Given the description of an element on the screen output the (x, y) to click on. 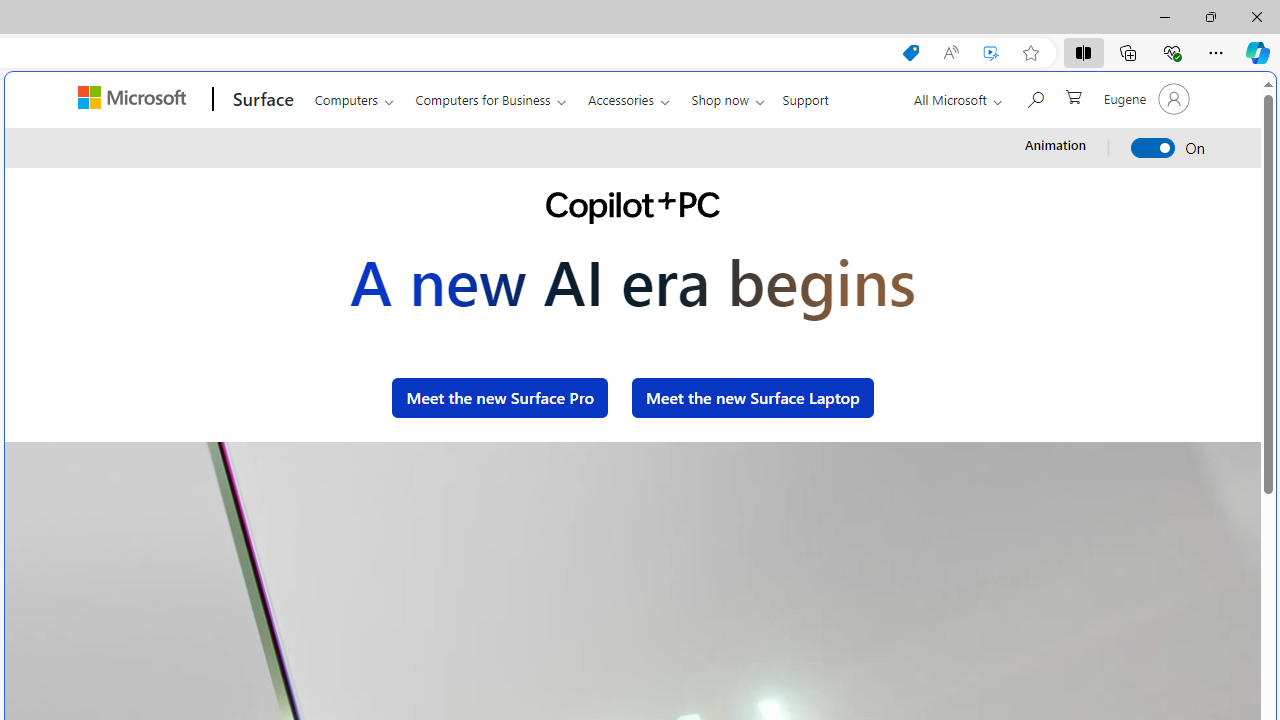
Support (805, 96)
0 items in shopping cart (1072, 95)
Meet the new Surface Laptop (753, 397)
Animation On (1153, 147)
Account manager for Eugene (1144, 98)
Meet the new Surface Pro (499, 397)
Enhance video (991, 53)
Shopping in Microsoft Edge (910, 53)
